Given the description of an element on the screen output the (x, y) to click on. 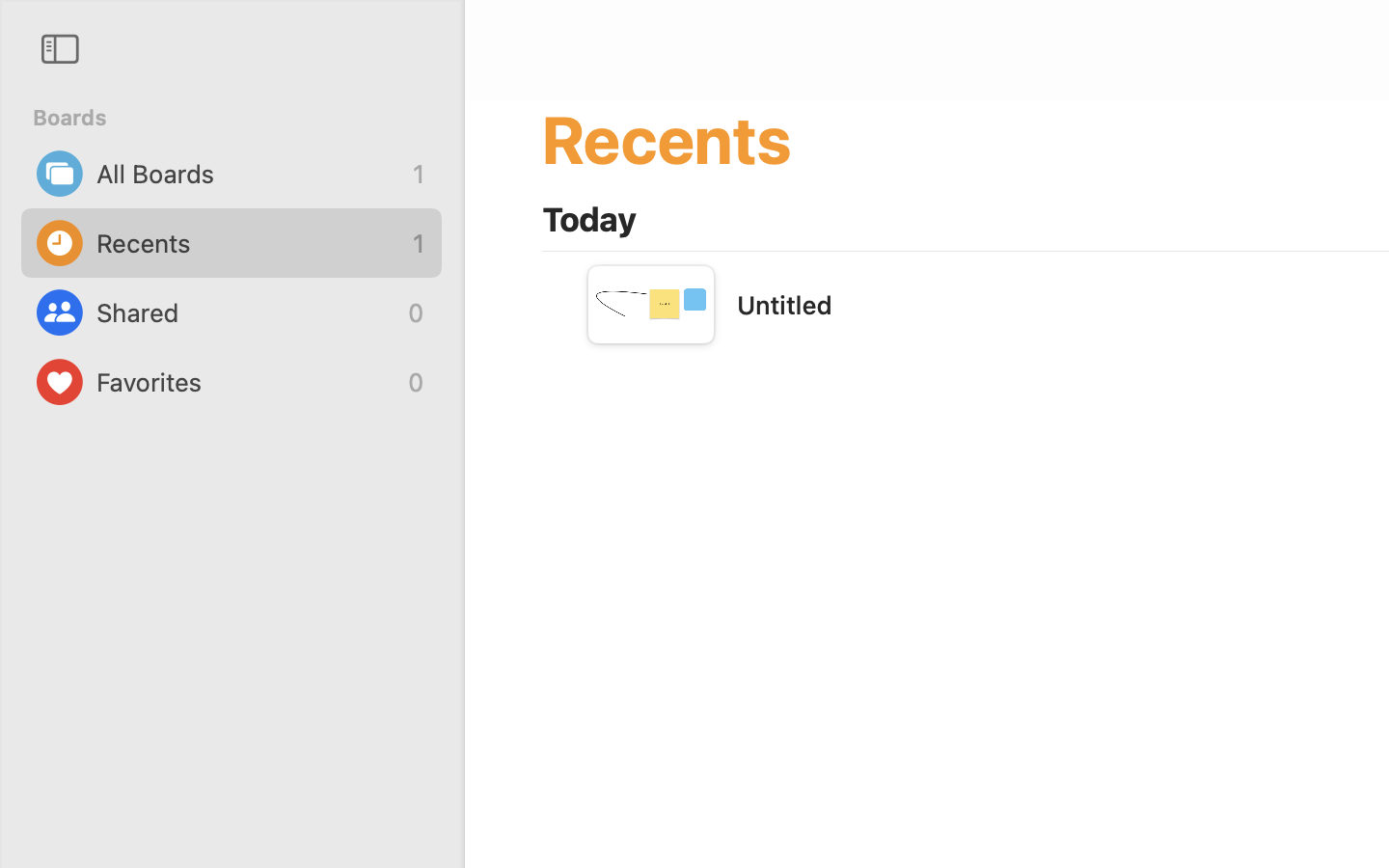
Untitled Element type: AXStaticText (784, 304)
Boards Element type: AXStaticText (242, 117)
